Given the description of an element on the screen output the (x, y) to click on. 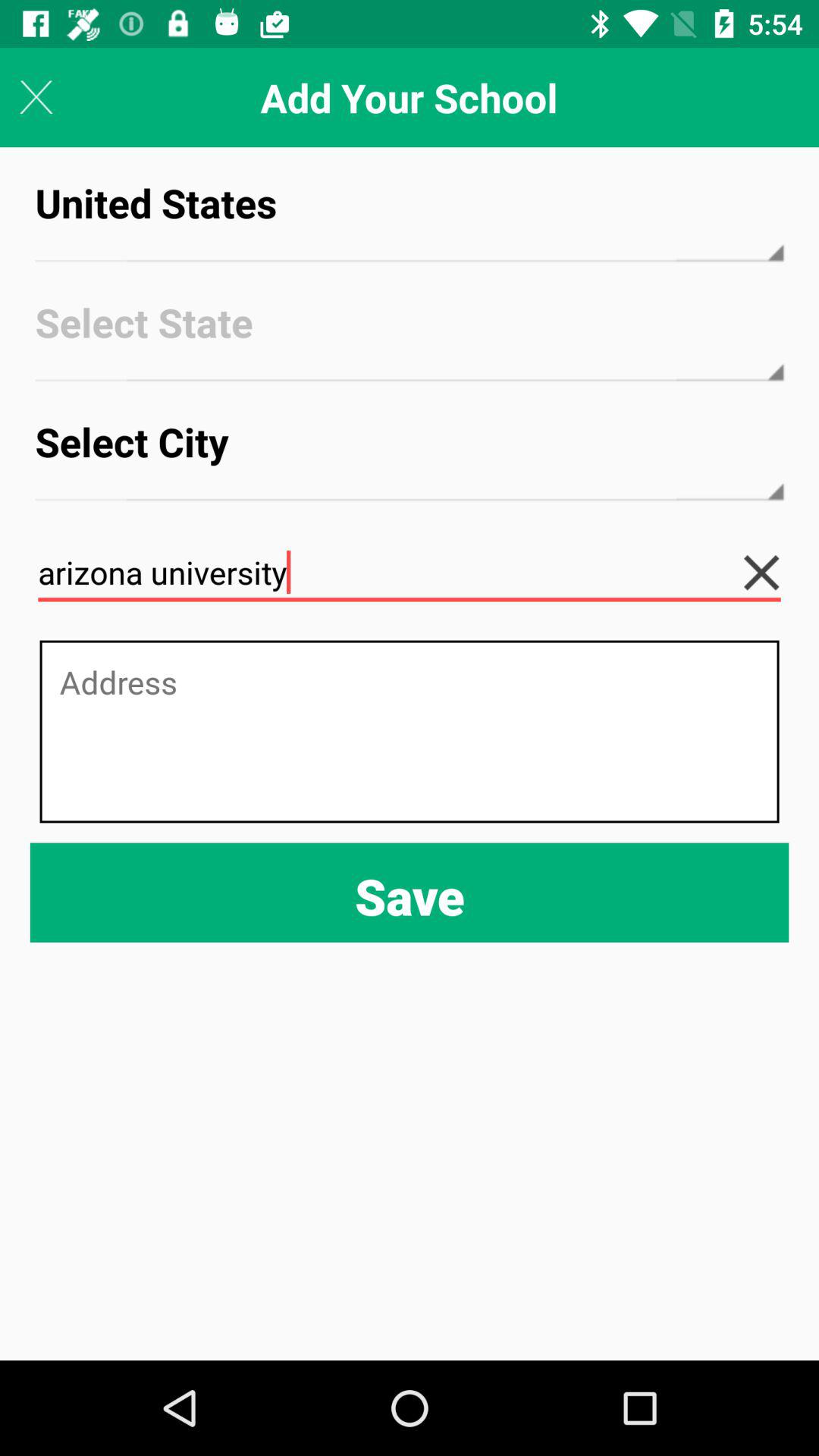
turn on the icon below united states icon (409, 336)
